Given the description of an element on the screen output the (x, y) to click on. 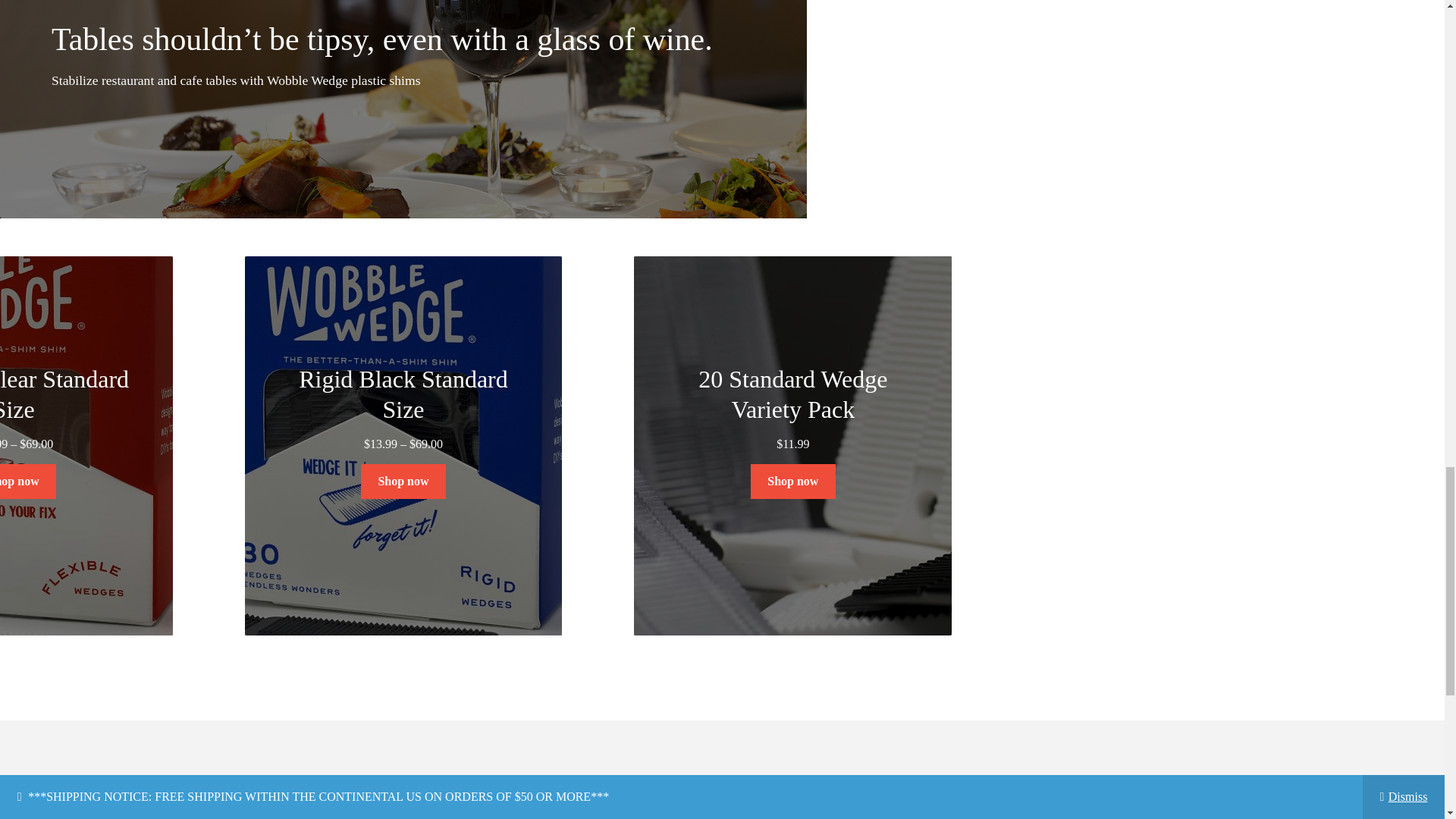
Shop now (403, 481)
Shop now (793, 481)
Shop now (28, 481)
